Given the description of an element on the screen output the (x, y) to click on. 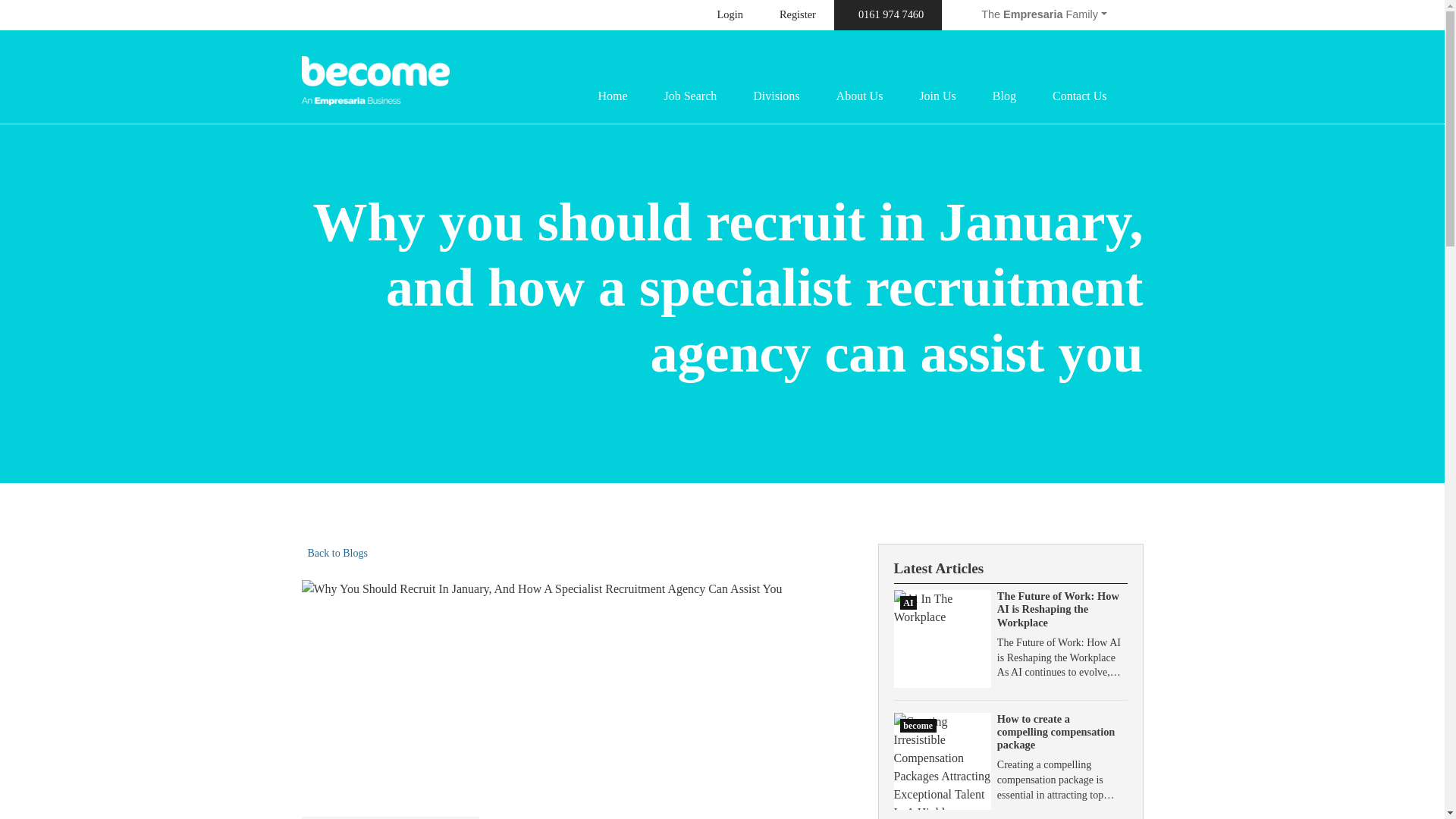
Back to Blogs (334, 553)
Blog (1004, 95)
Home (611, 95)
Contact Us (1079, 95)
The Empresaria Family (1043, 15)
How to create a compelling compensation package (1056, 731)
About Us (859, 95)
Divisions (775, 95)
Join Us (936, 95)
Register (797, 15)
